Given the description of an element on the screen output the (x, y) to click on. 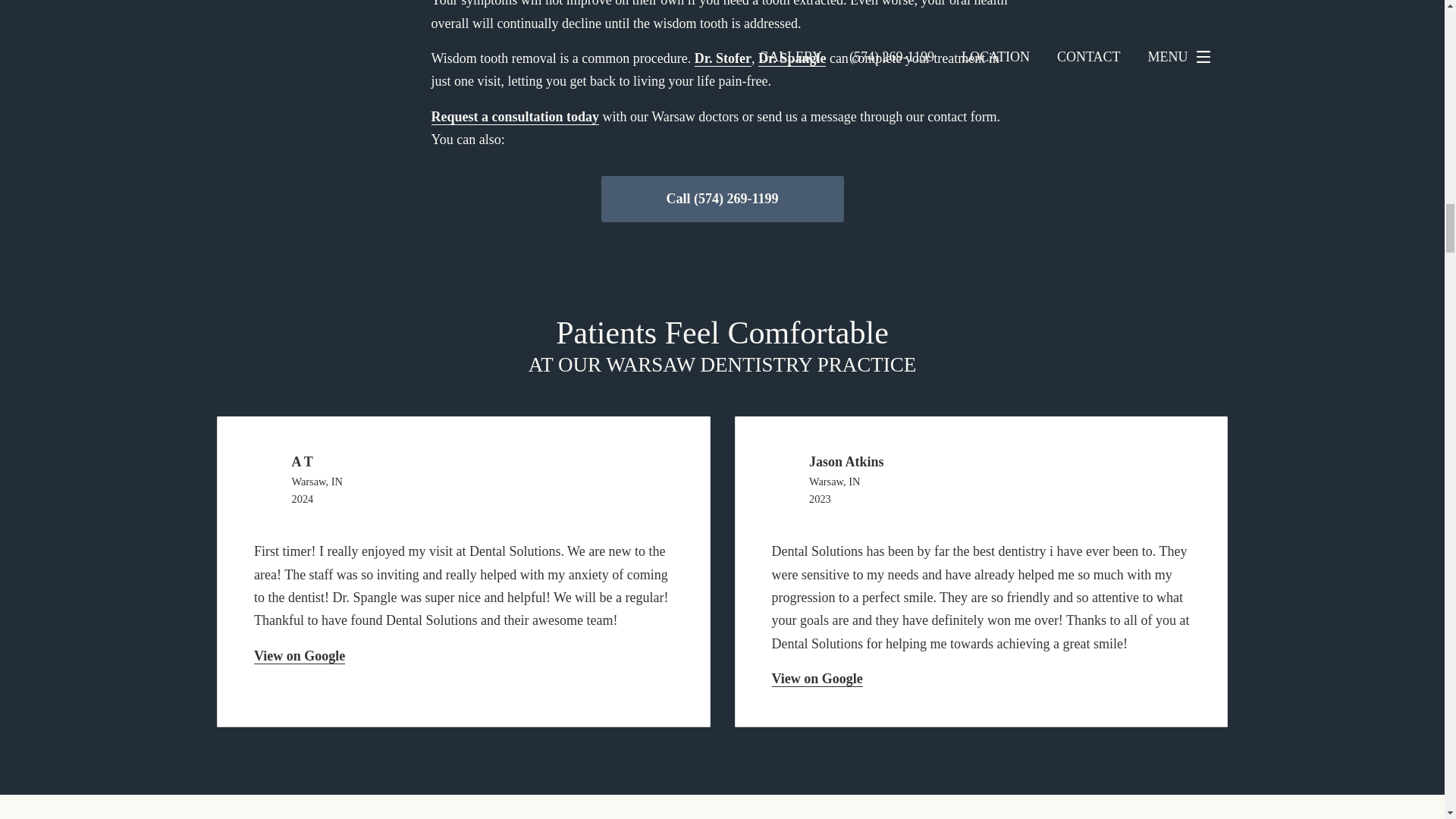
View on Google (299, 656)
Request a consultation today (514, 116)
View on Google (817, 678)
Dr. Stofer (722, 58)
Dr. Spangle (791, 58)
